Given the description of an element on the screen output the (x, y) to click on. 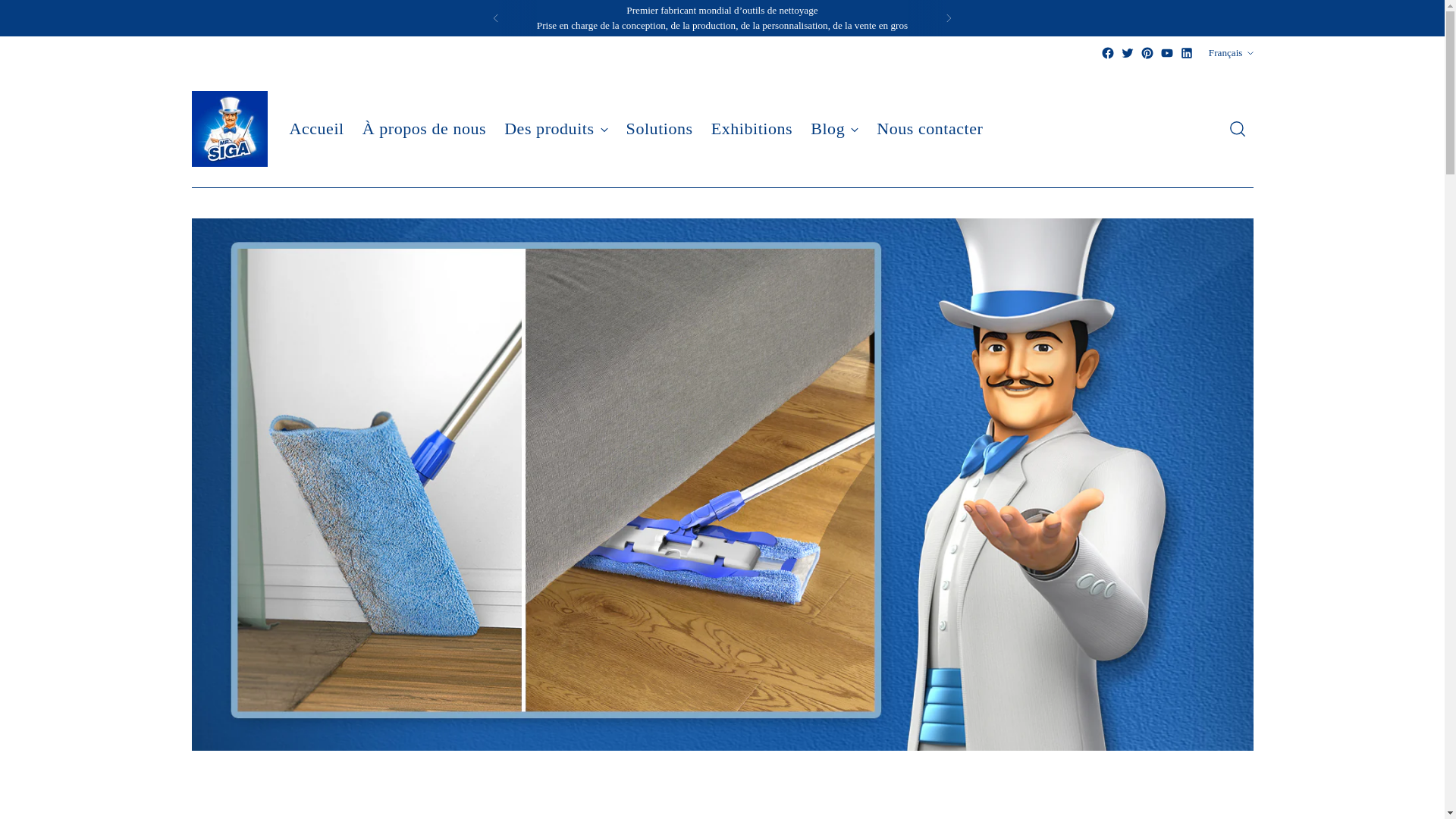
Des produits (555, 128)
Accueil (316, 128)
MR.SIGA sur Facebook (1107, 52)
MR.SIGA sur Pinterest (1147, 52)
MR.SIGA sur LinkedIn (1186, 52)
MR.SIGA sur Twitter (1127, 52)
MR.SIGA sur YouTube (1166, 52)
Suivant (948, 18)
